Given the description of an element on the screen output the (x, y) to click on. 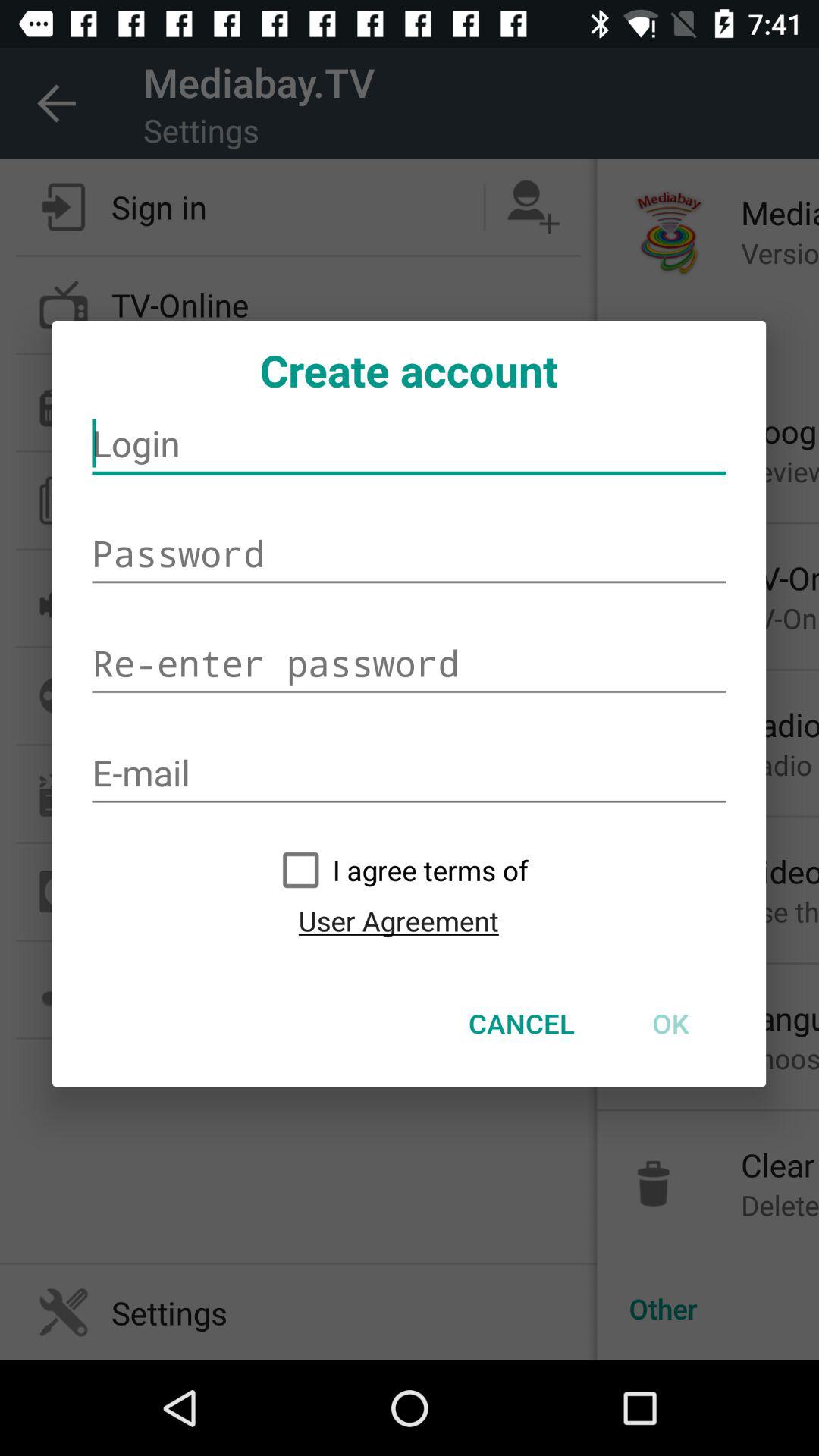
turn off ok (670, 1022)
